Given the description of an element on the screen output the (x, y) to click on. 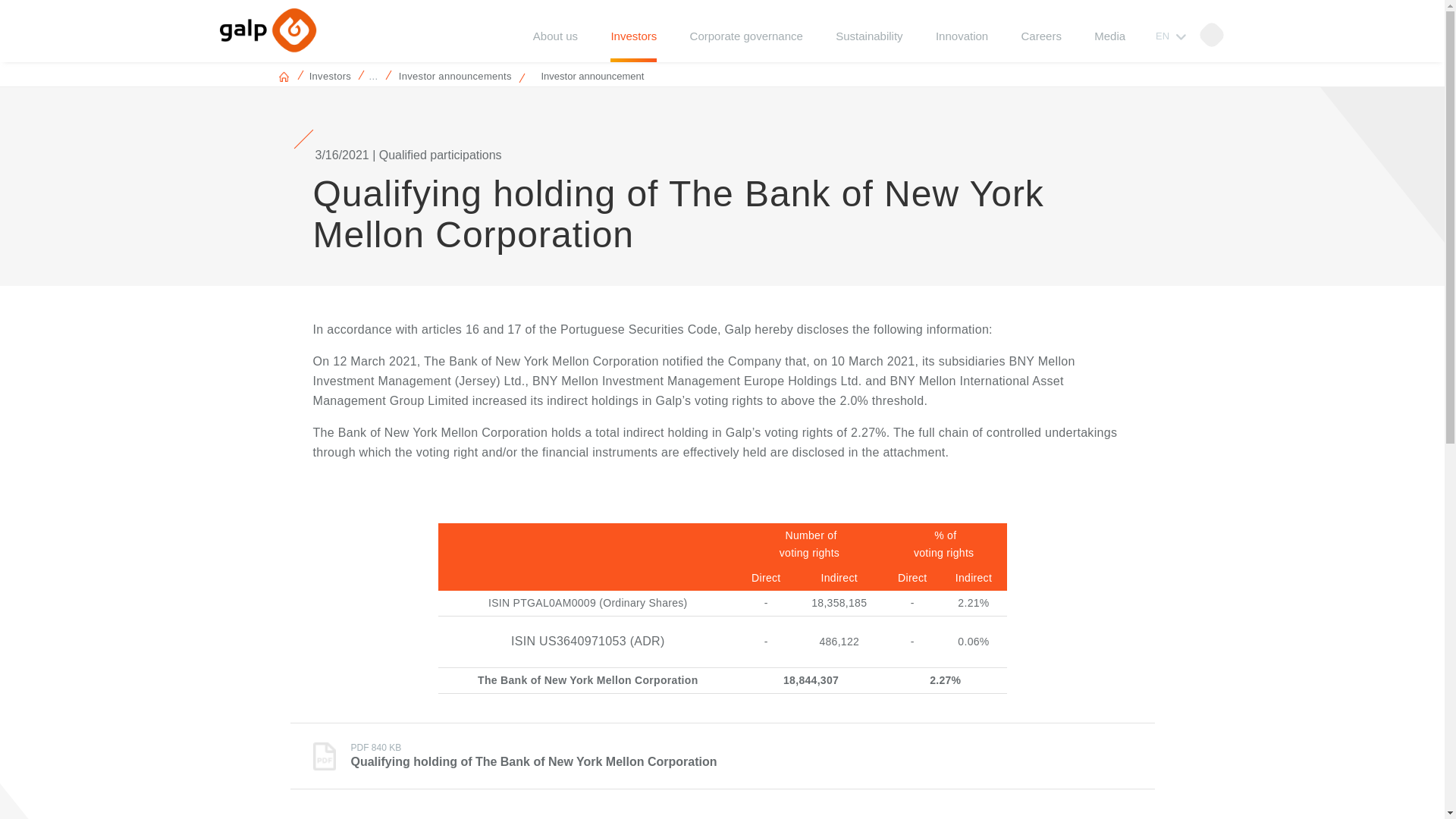
Investors (633, 45)
About us (555, 45)
Galp Corp (268, 30)
